Given the description of an element on the screen output the (x, y) to click on. 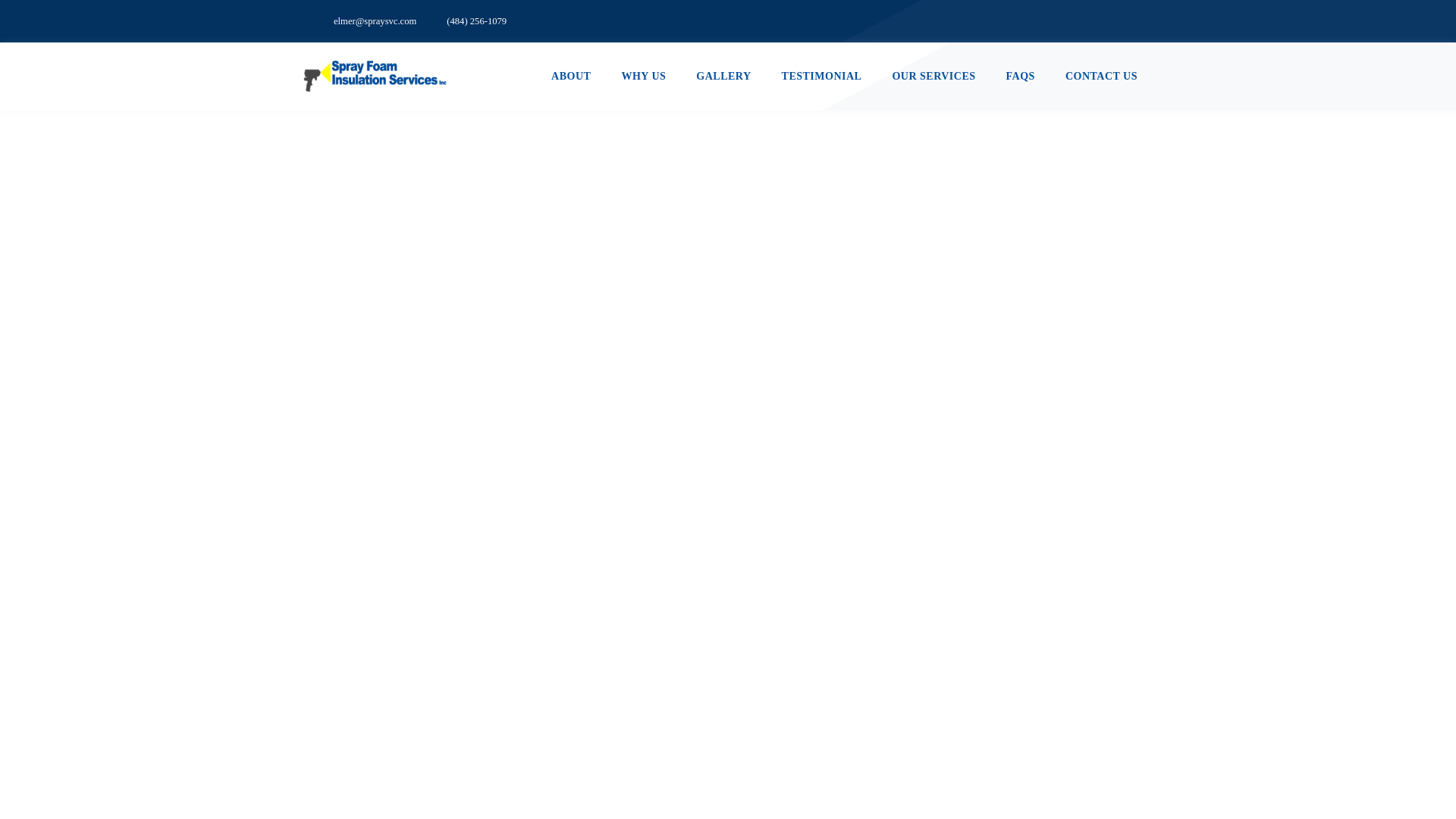
FAQS (1020, 76)
WHY US (643, 76)
TESTIMONIAL (822, 76)
GALLERY (723, 76)
CONTACT US (1101, 76)
OUR SERVICES (933, 76)
ABOUT (570, 76)
